Given the description of an element on the screen output the (x, y) to click on. 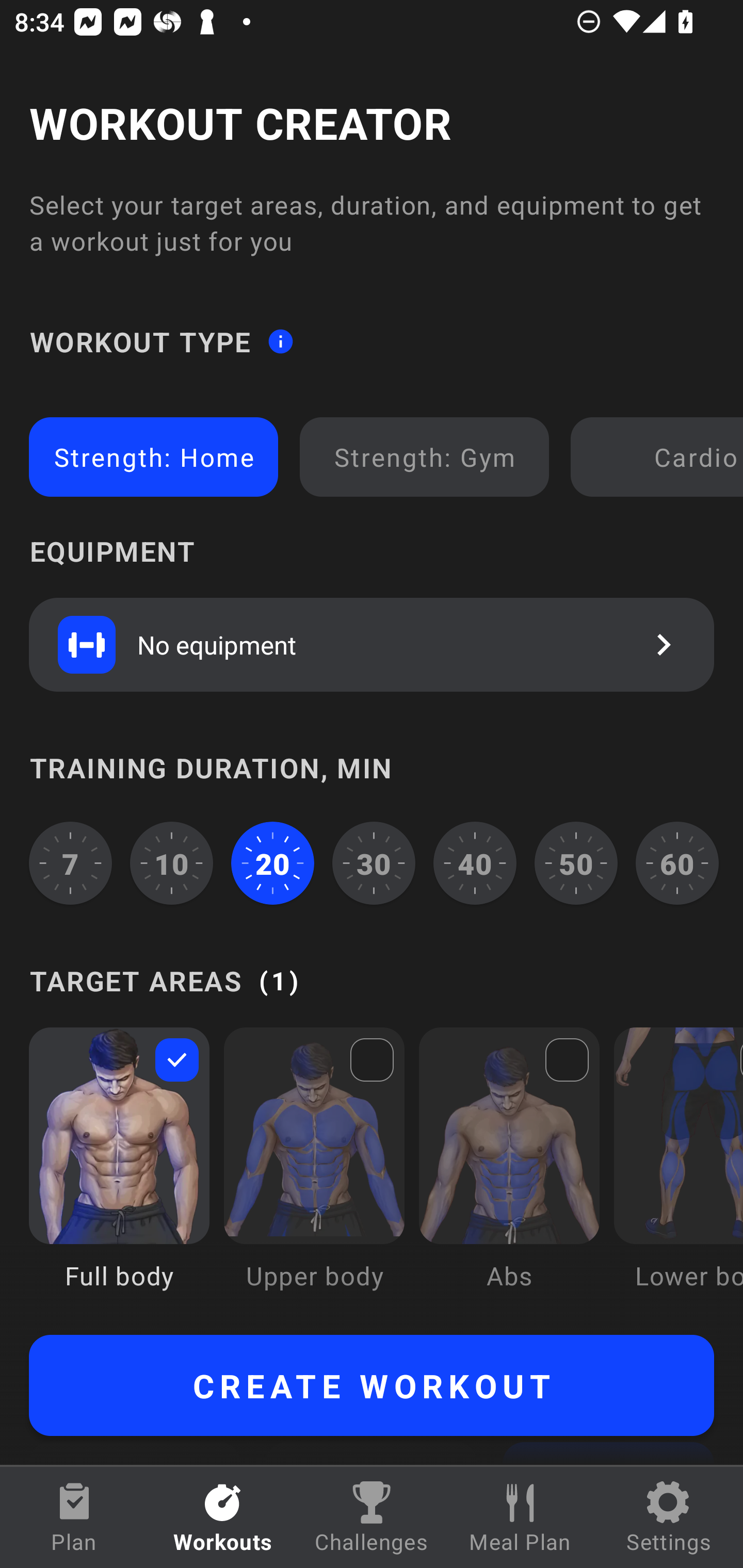
Workout type information button (280, 340)
Strength: Gym (423, 457)
Cardio (660, 457)
No equipment (371, 644)
7 (70, 862)
10 (171, 862)
20 (272, 862)
30 (373, 862)
40 (474, 862)
50 (575, 862)
60 (676, 862)
Upper body (313, 1172)
Abs (509, 1172)
Lower body (678, 1172)
CREATE WORKOUT (371, 1385)
 Plan  (74, 1517)
 Challenges  (371, 1517)
 Meal Plan  (519, 1517)
 Settings  (668, 1517)
